Given the description of an element on the screen output the (x, y) to click on. 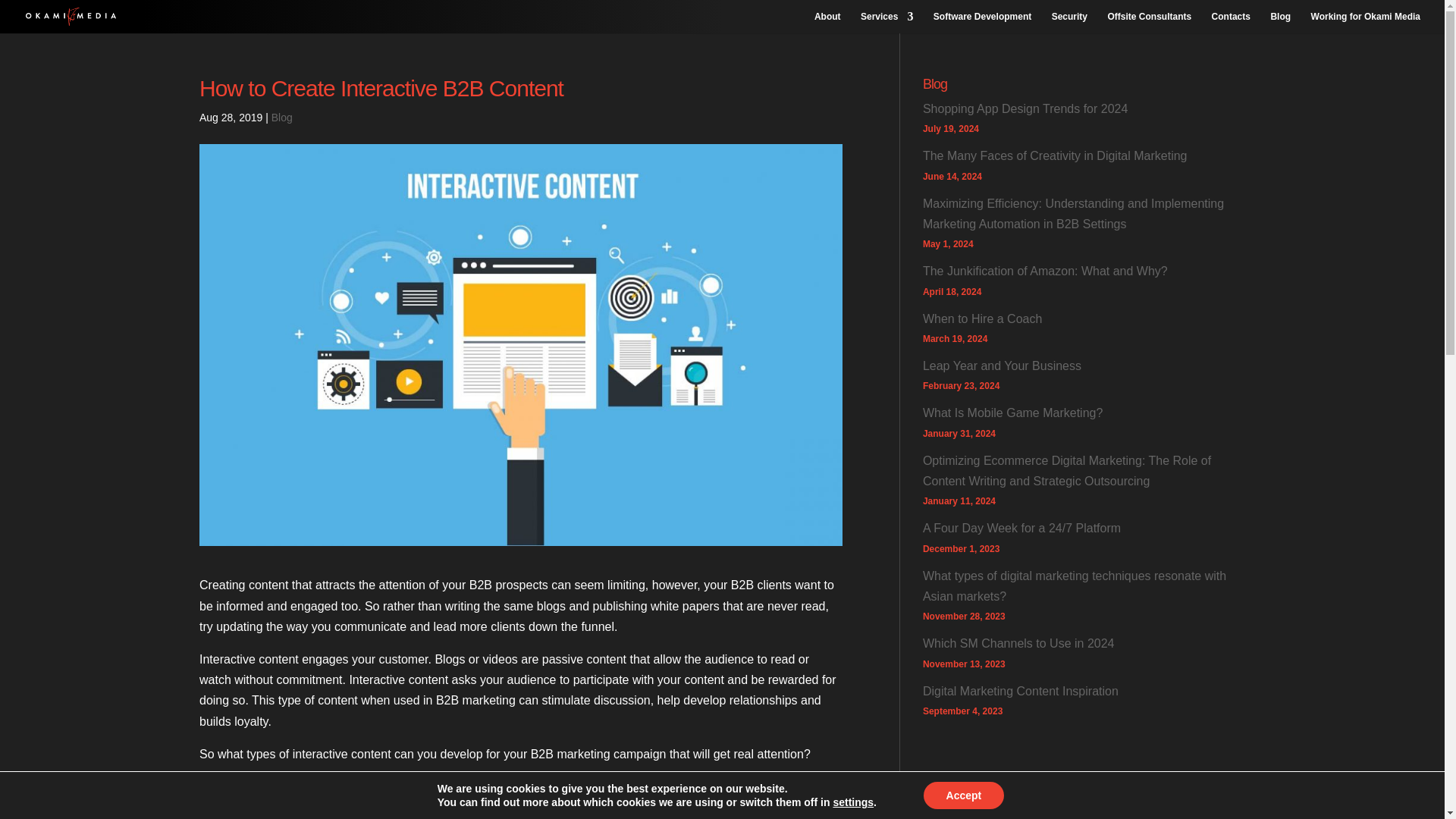
Shopping App Design Trends for 2024 (1024, 108)
What Is Mobile Game Marketing? (1012, 412)
Working for Okami Media (1366, 22)
About (827, 22)
The Many Faces of Creativity in Digital Marketing (1055, 155)
Software Development (981, 22)
When to Hire a Coach (982, 318)
Security (1069, 22)
Blog (1279, 22)
Offsite Consultants (1148, 22)
The Junkification of Amazon: What and Why? (1045, 270)
Blog (281, 117)
